Given the description of an element on the screen output the (x, y) to click on. 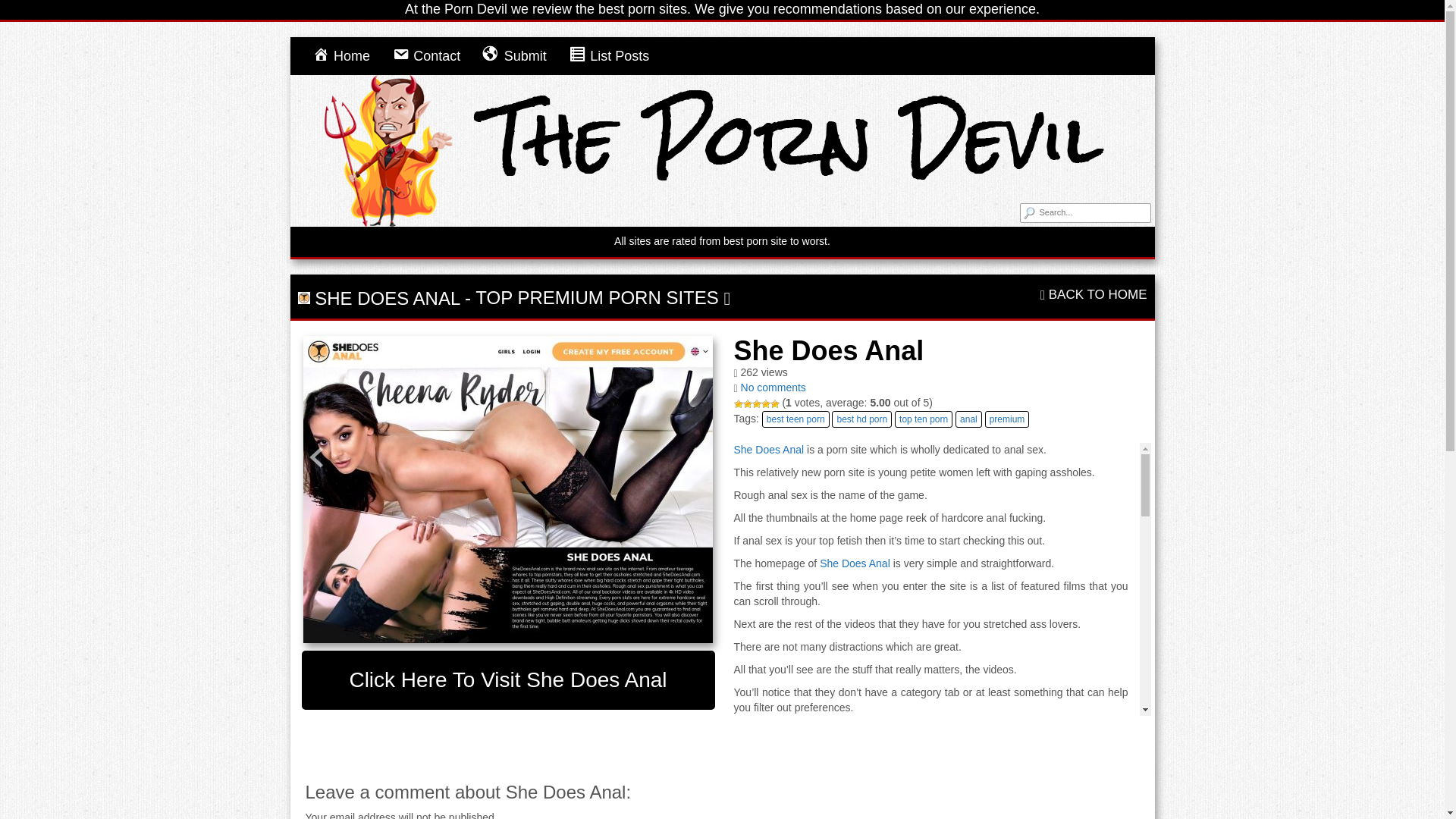
1 Star (737, 403)
List Posts (609, 55)
top ten porn (923, 419)
best teen porn (795, 419)
She Does Anal (507, 488)
Submit (514, 55)
She Does Anal (507, 680)
anal (968, 419)
best hd porn (861, 419)
Contact (426, 55)
She Does Anal (854, 563)
2 Stars (747, 403)
Click Here To Visit She Does Anal (507, 680)
3 Stars (756, 403)
She Does Anal (1032, 806)
